Given the description of an element on the screen output the (x, y) to click on. 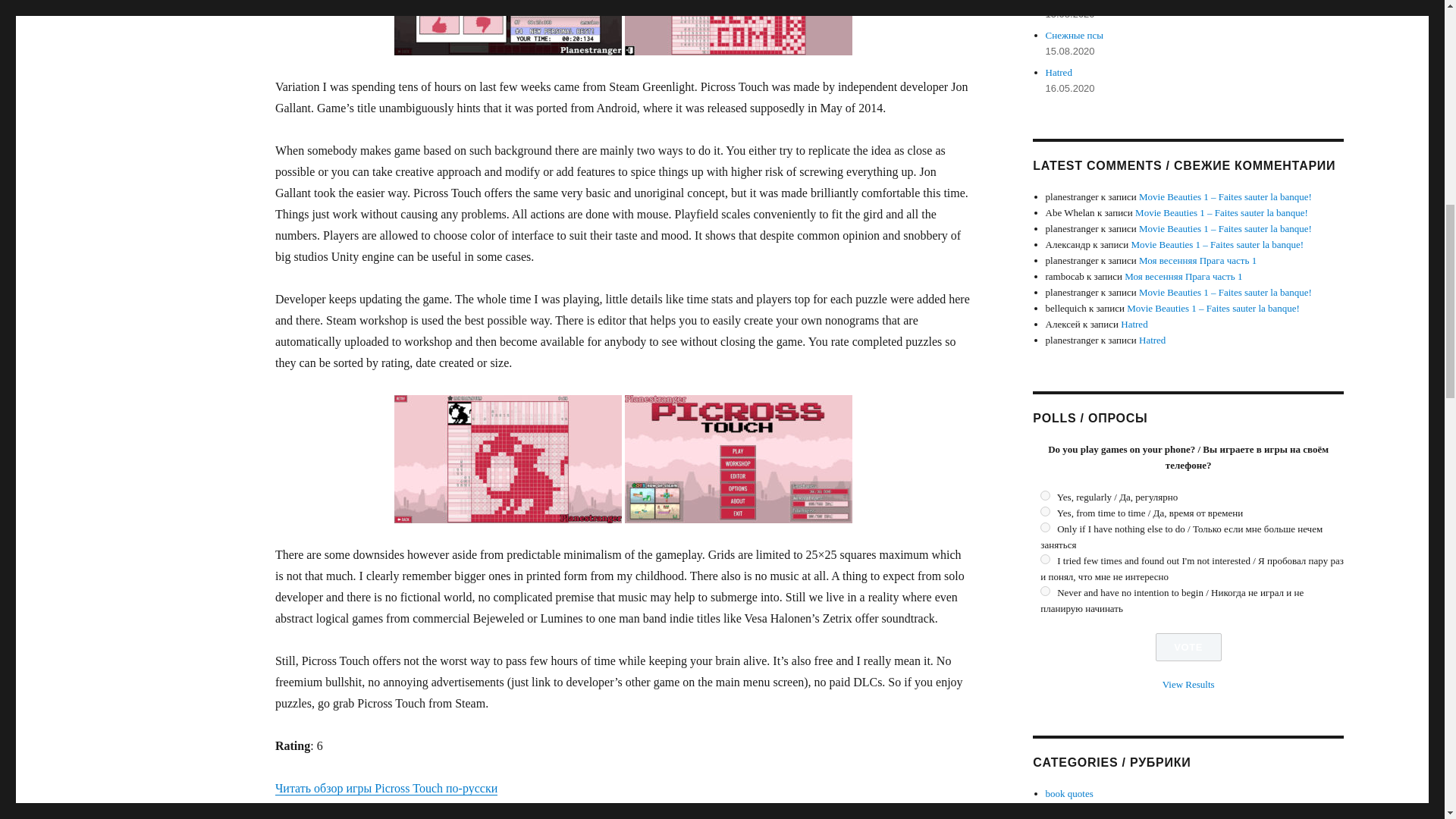
View Results Of This Poll (1187, 684)
24 (1045, 495)
28 (1045, 591)
25 (1045, 511)
   Vote    (1188, 646)
27 (1045, 559)
26 (1045, 527)
